Given the description of an element on the screen output the (x, y) to click on. 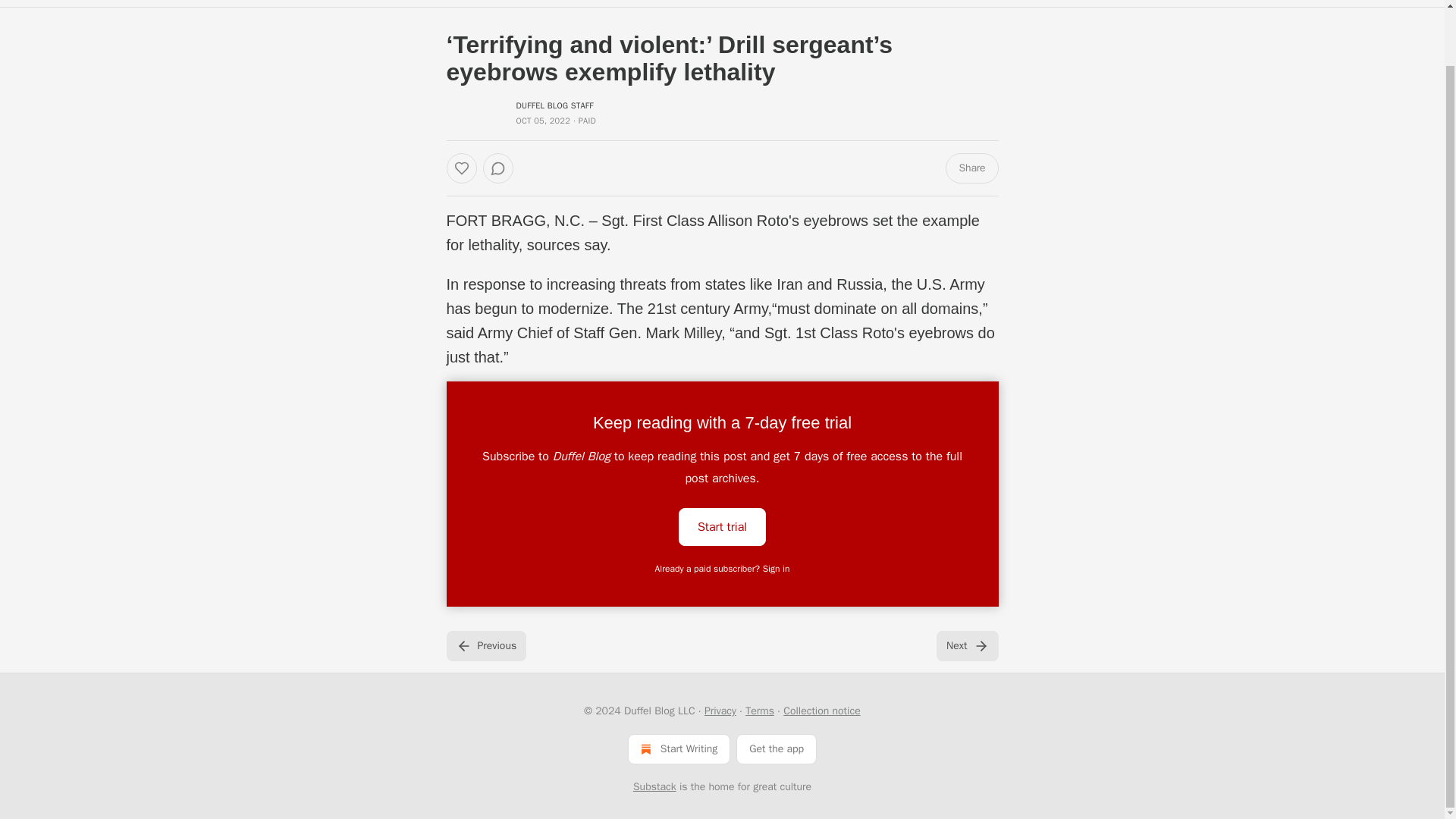
Next (966, 645)
Previous (485, 645)
Get the app (776, 748)
Start Writing (678, 748)
Terms (759, 710)
Privacy (720, 710)
Collection notice (821, 710)
Start trial (721, 525)
Share (970, 168)
Already a paid subscriber? Sign in (722, 568)
Substack (655, 786)
DUFFEL BLOG STAFF (553, 104)
Start trial (721, 526)
